Given the description of an element on the screen output the (x, y) to click on. 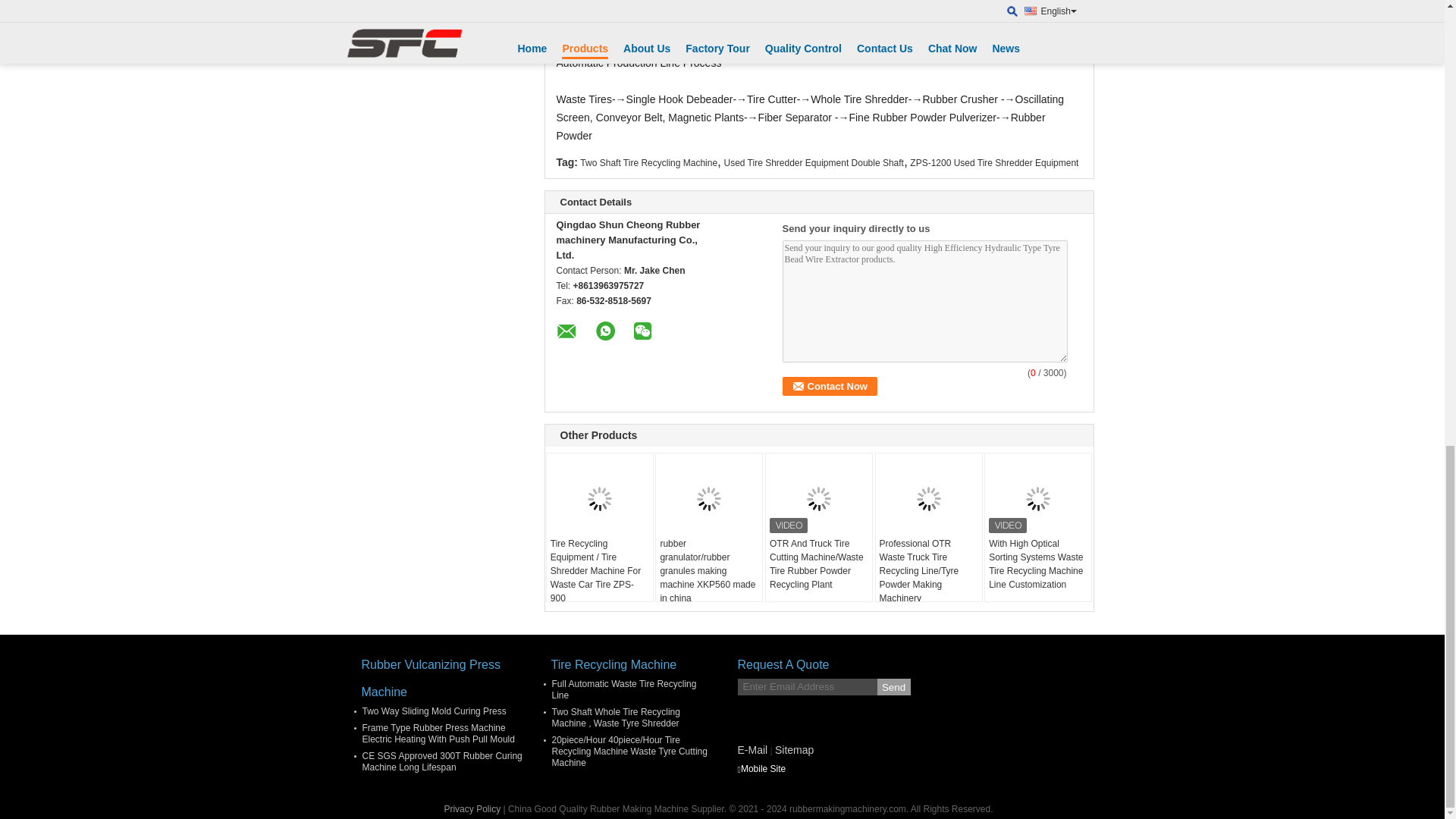
Contact Now (830, 385)
